Given the description of an element on the screen output the (x, y) to click on. 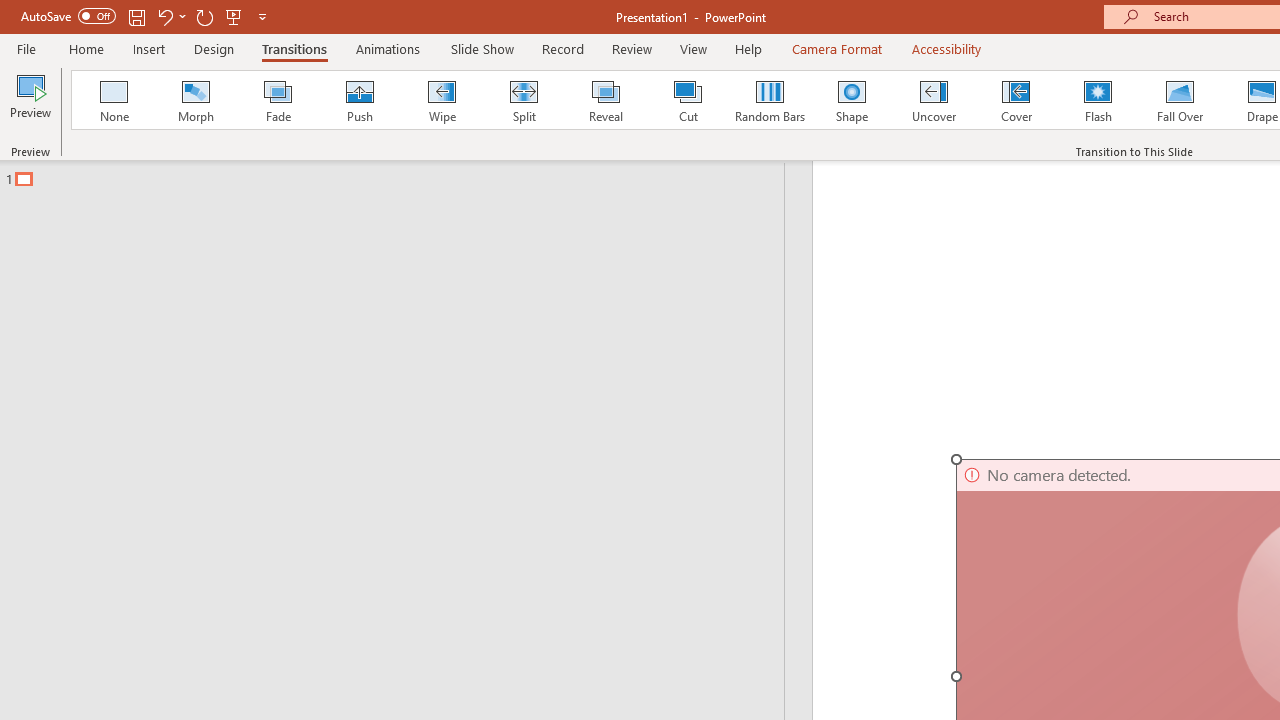
None (113, 100)
Uncover (934, 100)
Morph (195, 100)
Fade (277, 100)
Camera Format (836, 48)
Random Bars (770, 100)
